Given the description of an element on the screen output the (x, y) to click on. 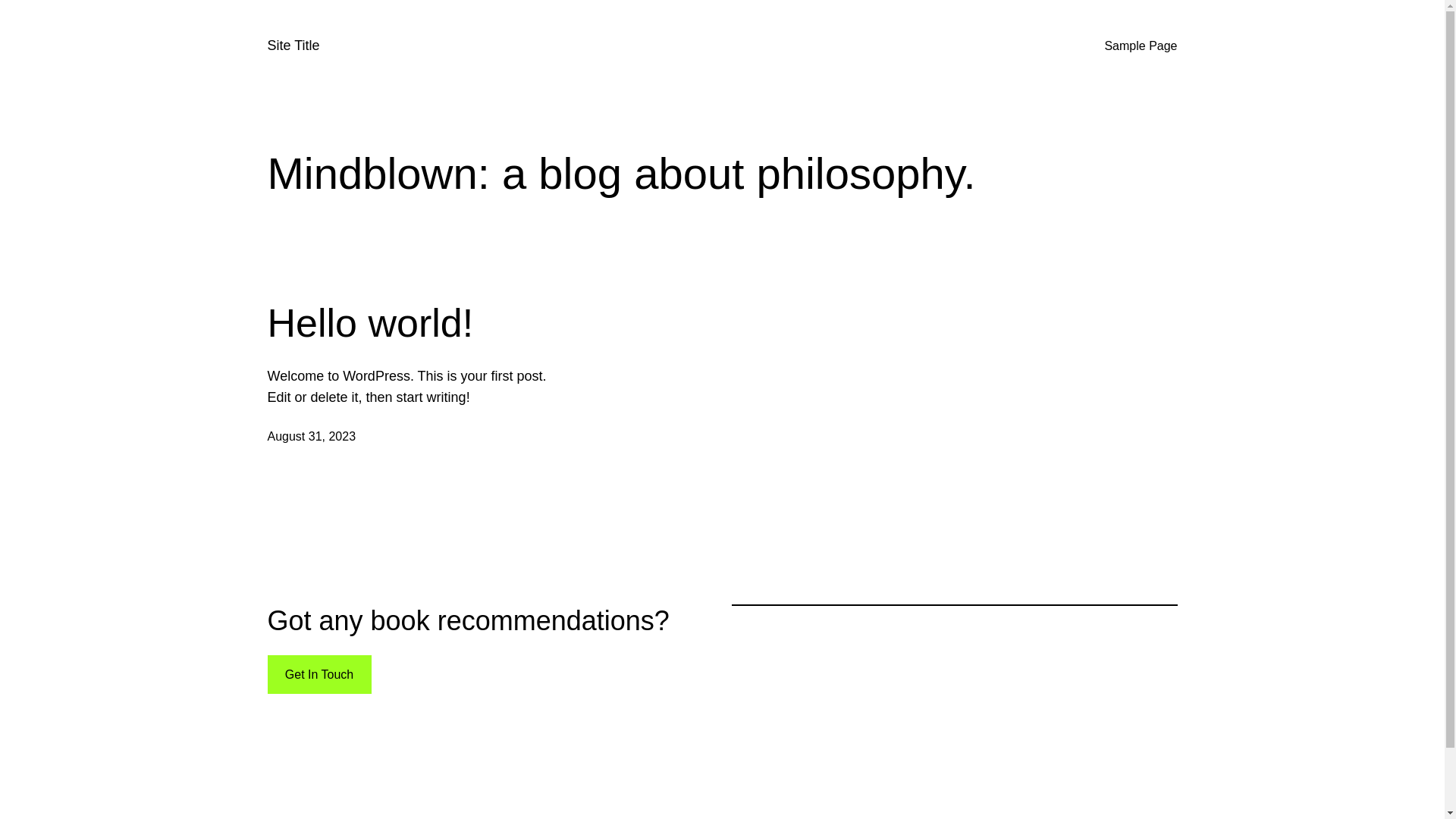
Sample Page Element type: text (1140, 46)
Site Title Element type: text (292, 45)
Hello world! Element type: text (369, 322)
Get In Touch Element type: text (318, 674)
August 31, 2023 Element type: text (310, 435)
